Given the description of an element on the screen output the (x, y) to click on. 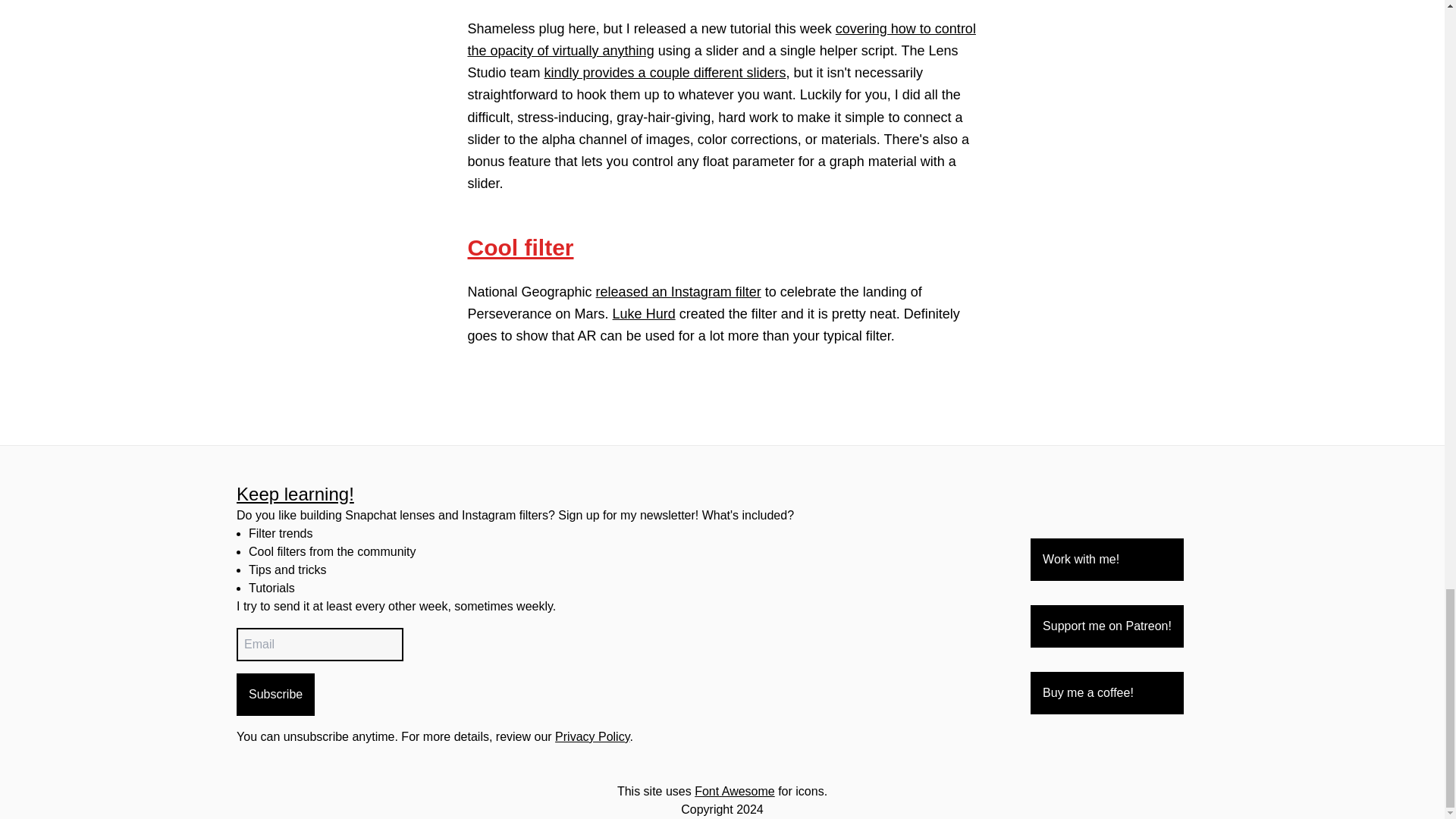
released an Instagram filter (678, 291)
kindly provides a couple different sliders (665, 72)
Support me on Patreon! (1106, 626)
covering how to control the opacity of virtually anything (721, 39)
Font Awesome (734, 790)
Luke Hurd (643, 313)
Buy me a coffee! (1106, 692)
Subscribe (274, 694)
Work with me! (1106, 559)
Cool filter (520, 247)
Privacy Policy (591, 736)
